Given the description of an element on the screen output the (x, y) to click on. 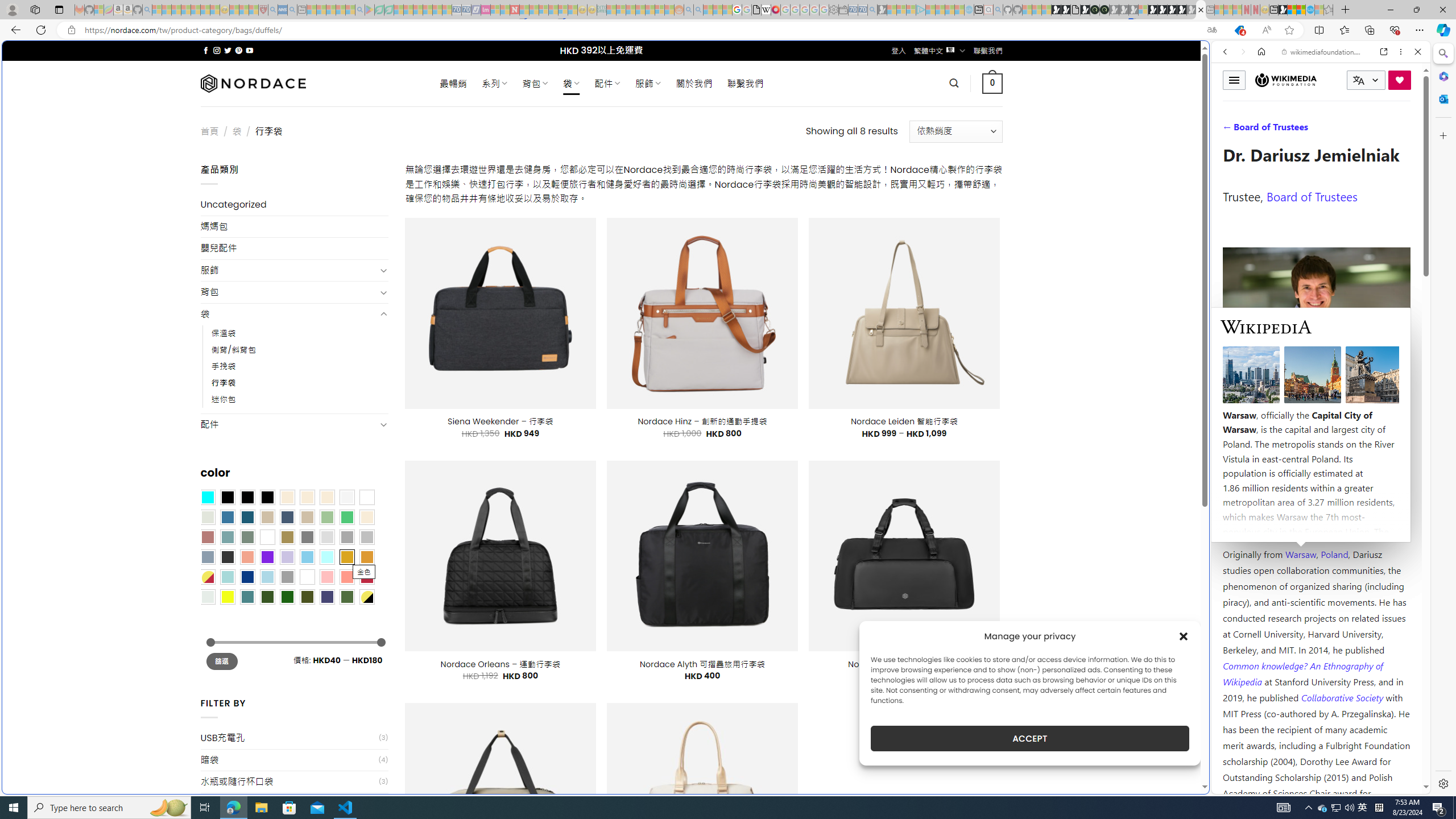
Search Filter, VIDEOS (1300, 129)
